Given the description of an element on the screen output the (x, y) to click on. 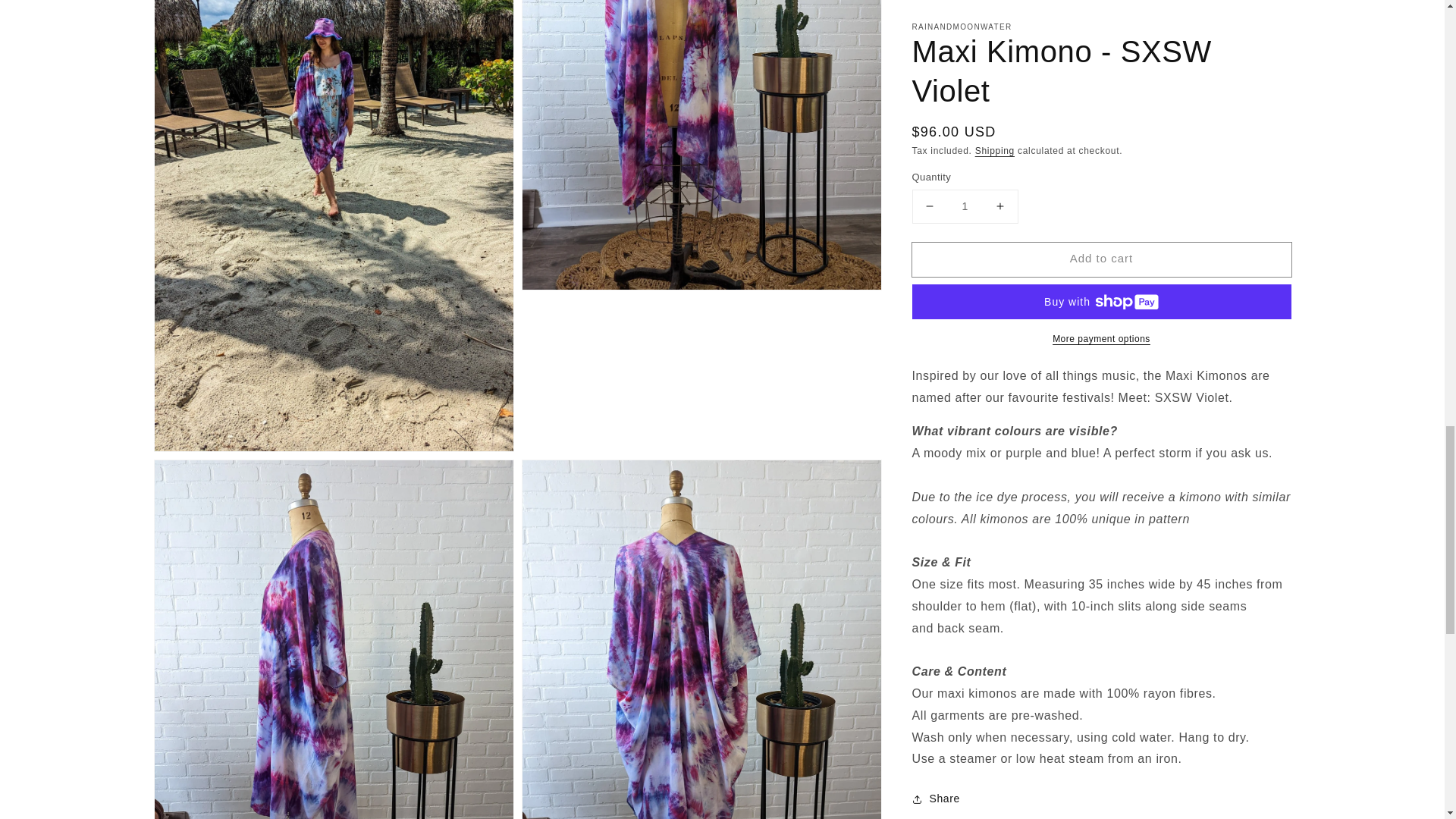
Open media 3 in gallery view (700, 144)
Open media 5 in gallery view (700, 639)
Open media 4 in gallery view (333, 639)
